Given the description of an element on the screen output the (x, y) to click on. 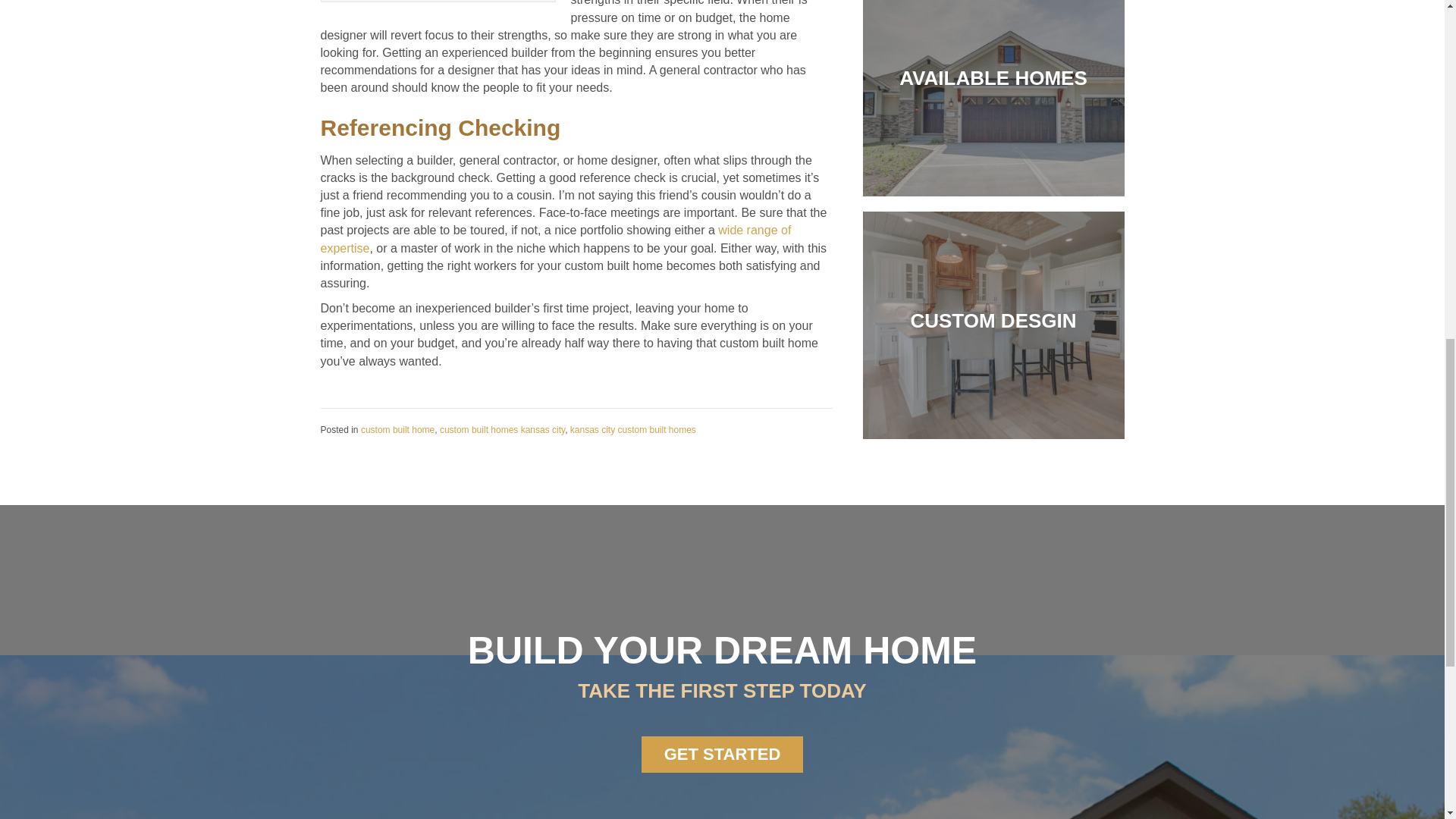
wide range of expertise (555, 238)
custom built home (397, 429)
custom built homes kansas city (501, 429)
GET STARTED (722, 754)
kansas city custom built homes (632, 429)
